Given the description of an element on the screen output the (x, y) to click on. 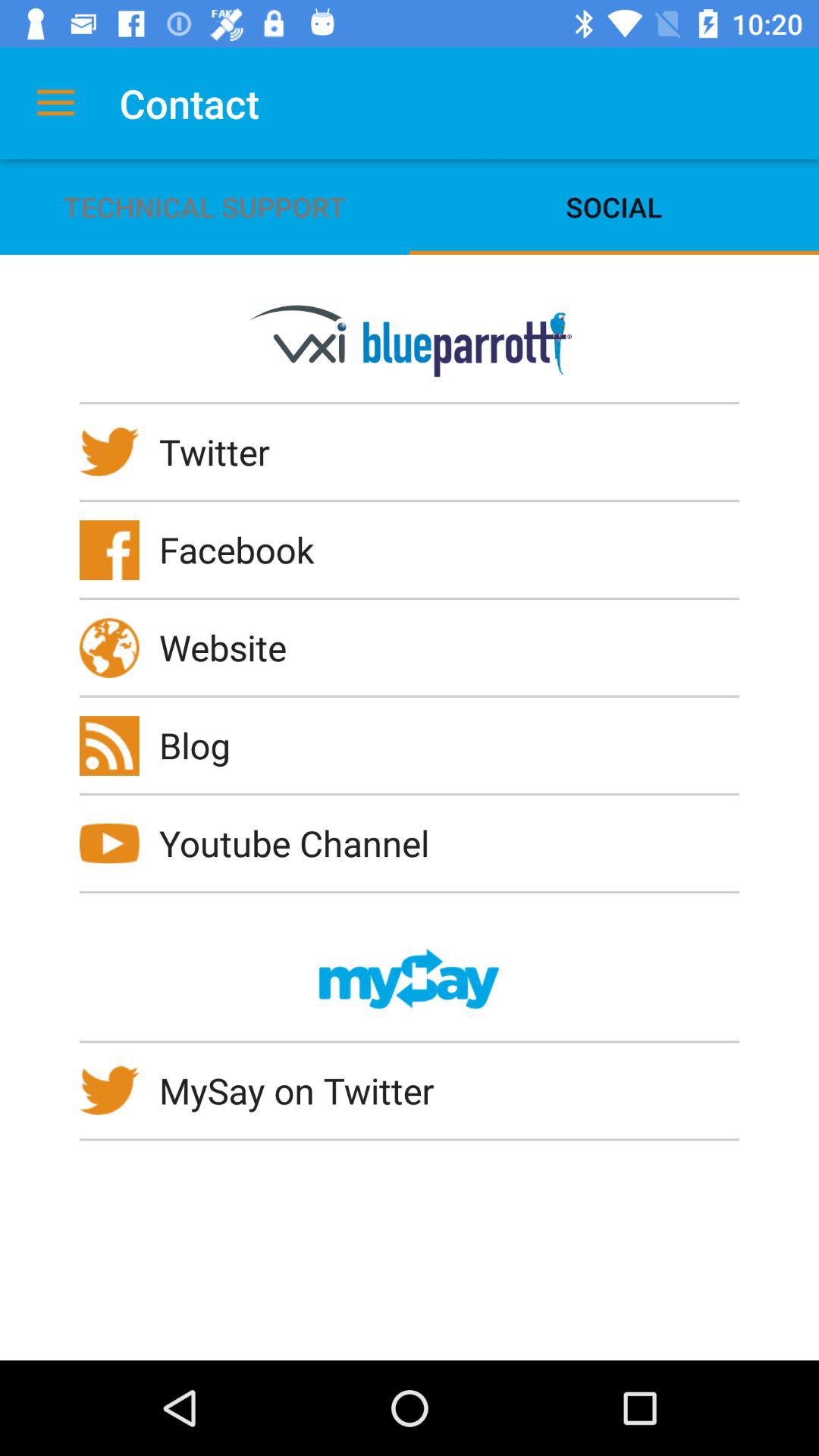
tap item next to the contact (55, 103)
